Given the description of an element on the screen output the (x, y) to click on. 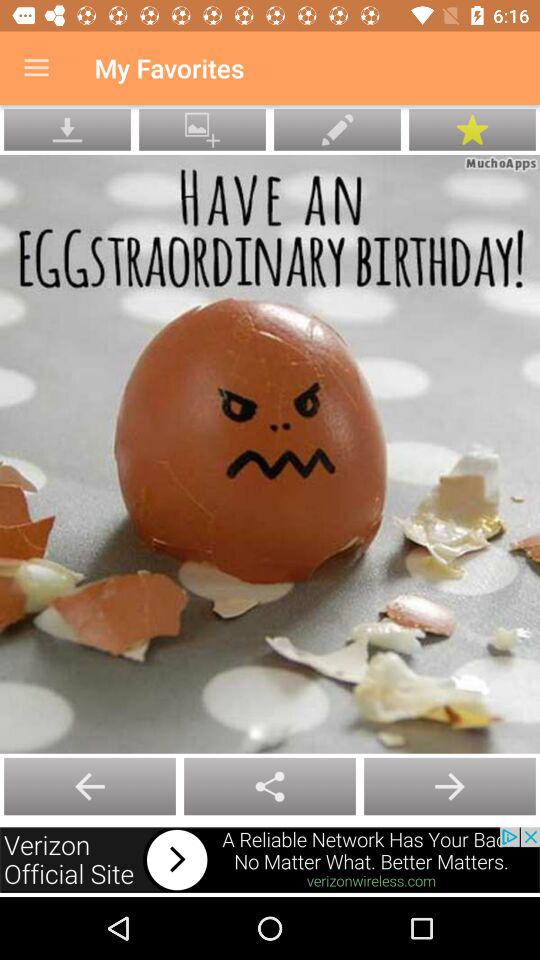
advertisement (270, 859)
